Given the description of an element on the screen output the (x, y) to click on. 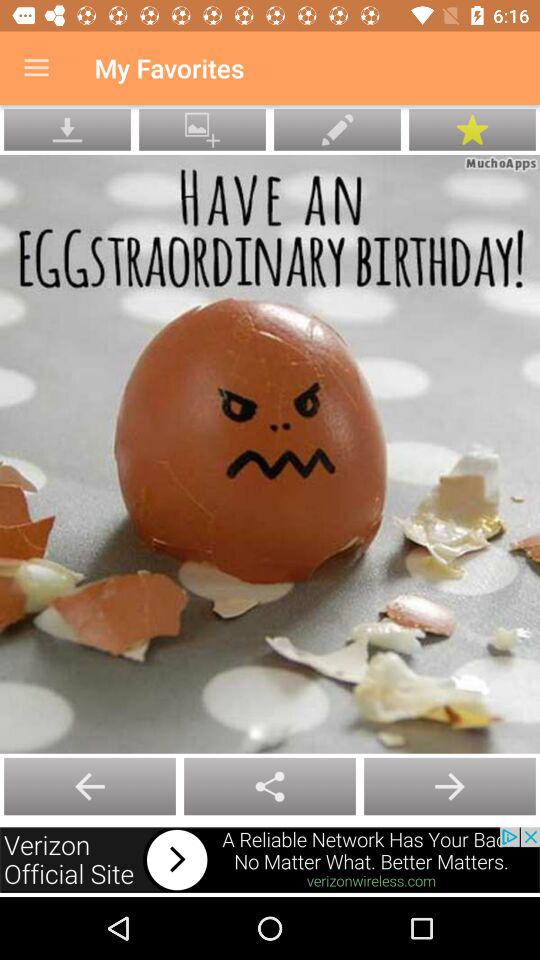
advertisement (270, 859)
